Given the description of an element on the screen output the (x, y) to click on. 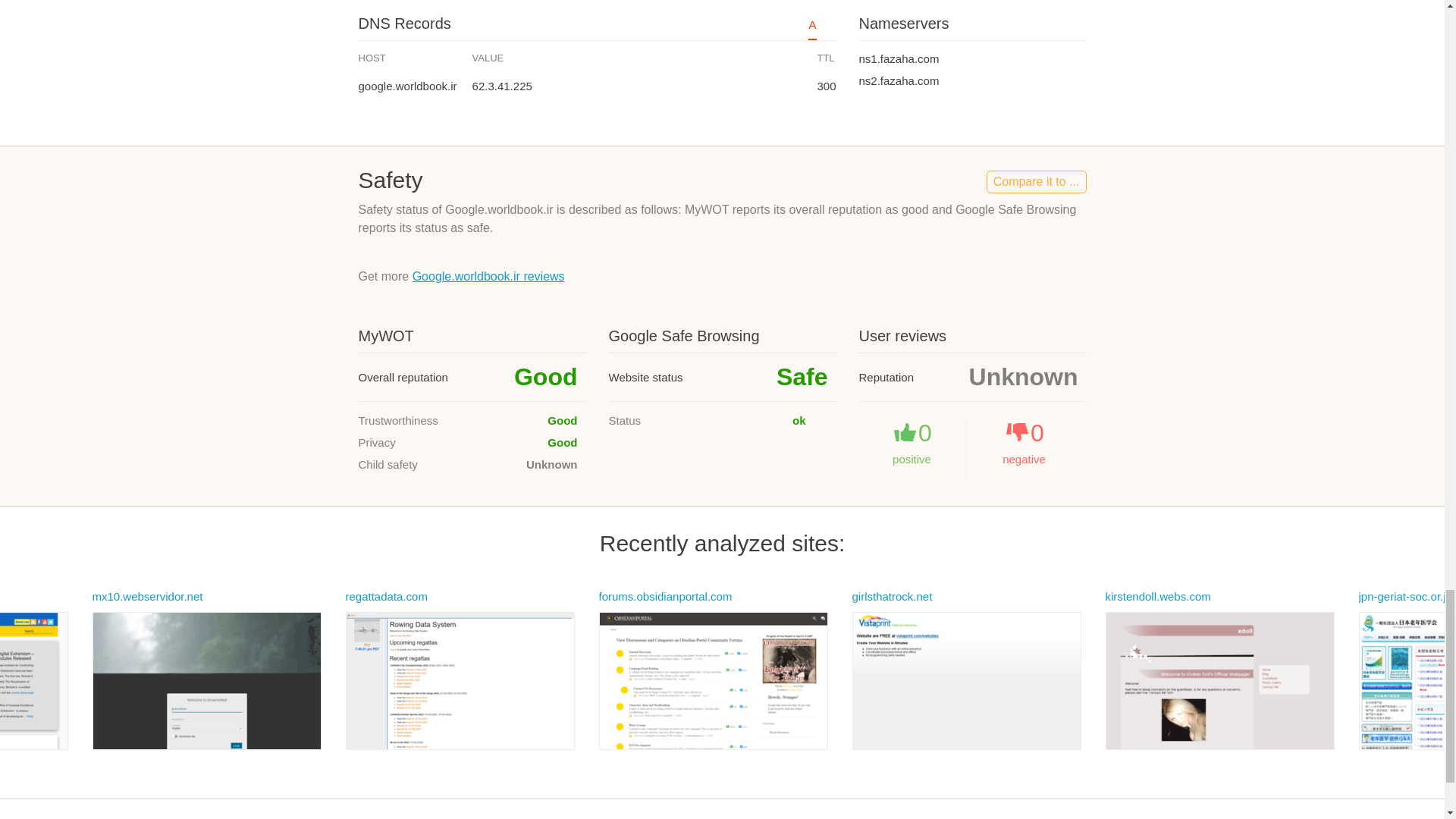
girlsthatrock.net (892, 595)
Compare it to ... (1036, 181)
forums.obsidianportal.com (665, 595)
kirstendoll.webs.com (1158, 595)
Google.worldbook.ir reviews (488, 276)
